Given the description of an element on the screen output the (x, y) to click on. 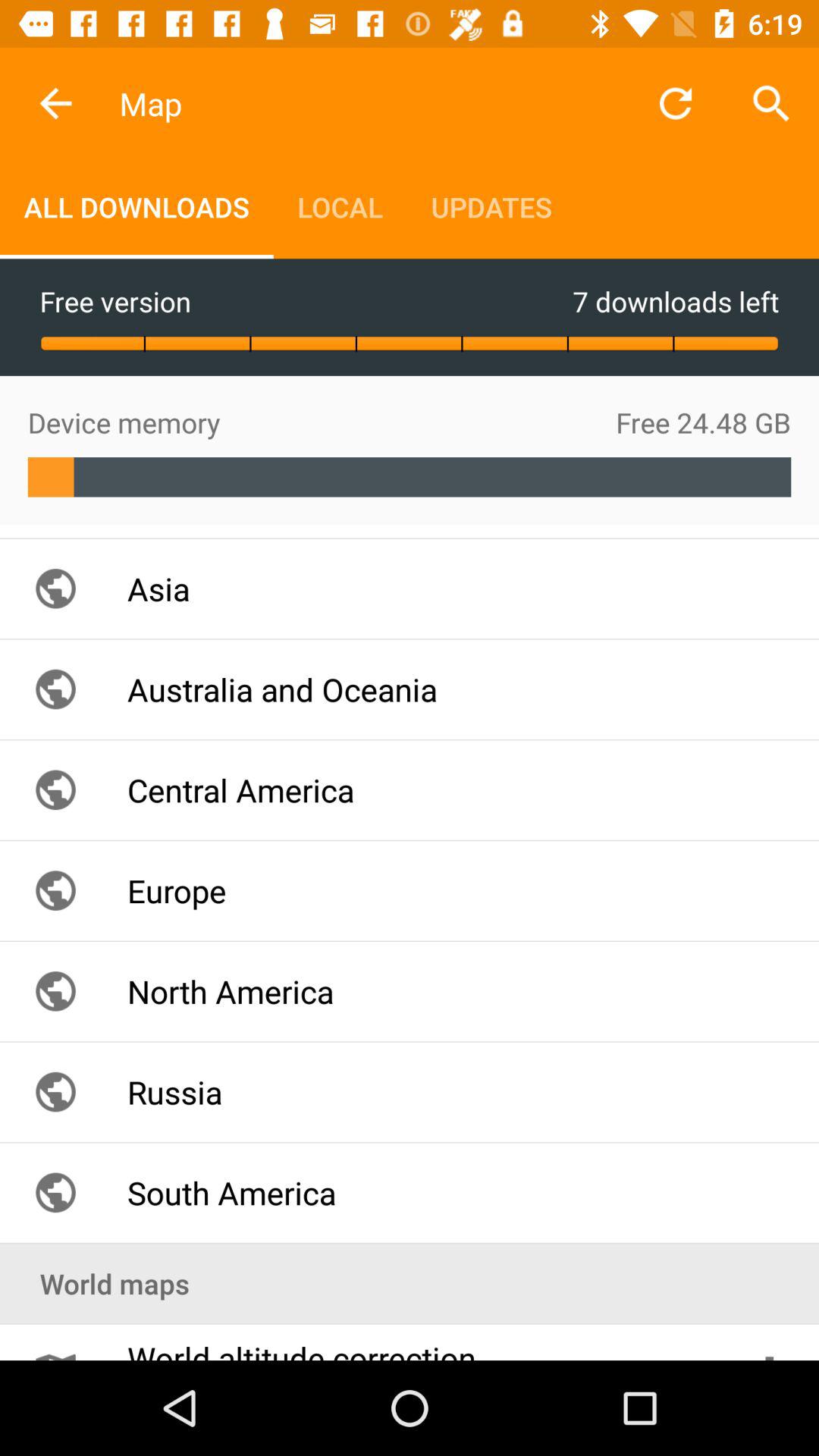
turn off the icon above the free version (136, 206)
